Given the description of an element on the screen output the (x, y) to click on. 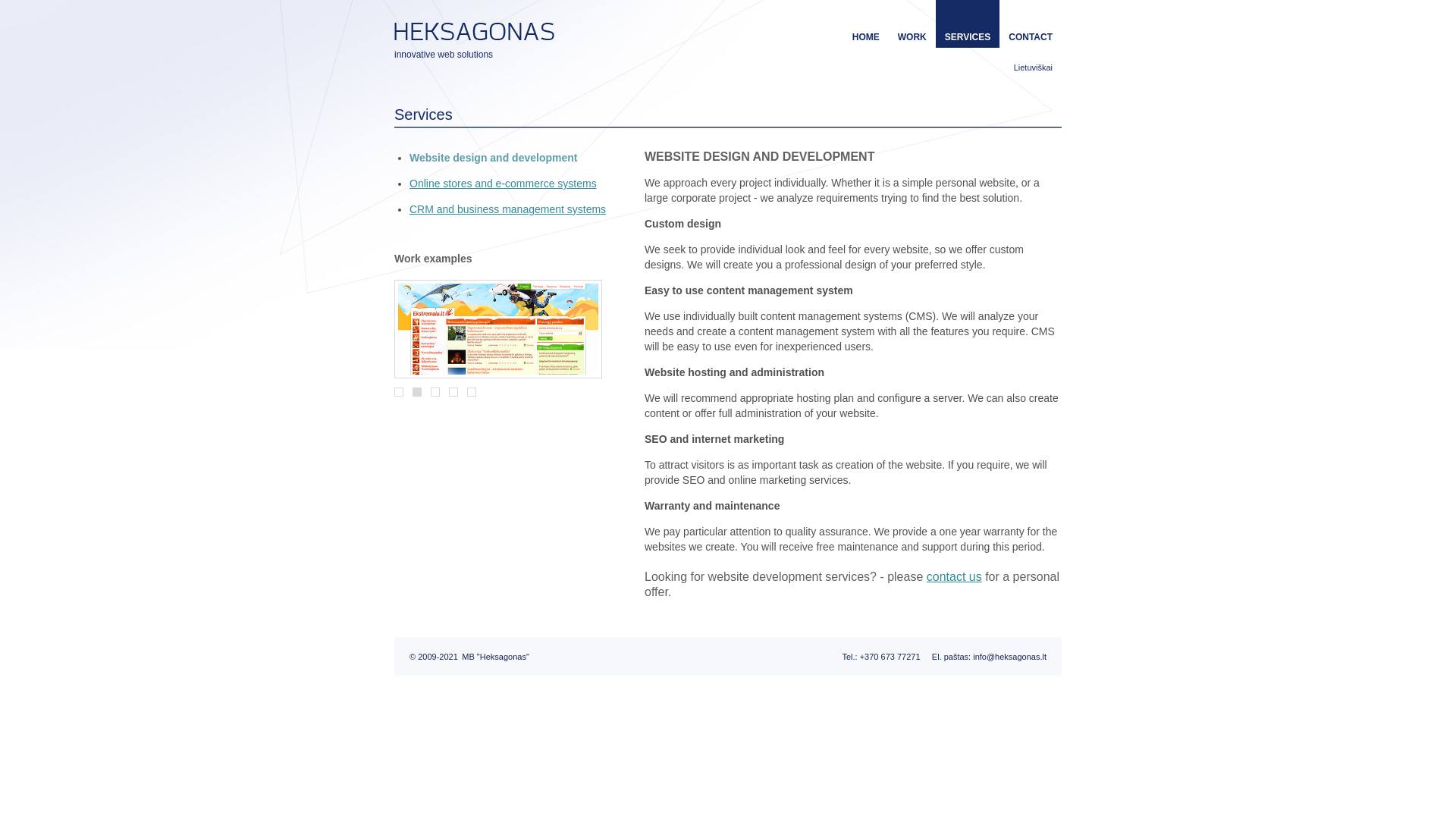
CONTACT (1030, 36)
WORK (912, 36)
contact us (953, 576)
HOME (865, 36)
Online stores and e-commerce systems (502, 183)
Website design and development (492, 157)
SERVICES (967, 36)
Services (423, 114)
CRM and business management systems (507, 209)
